Given the description of an element on the screen output the (x, y) to click on. 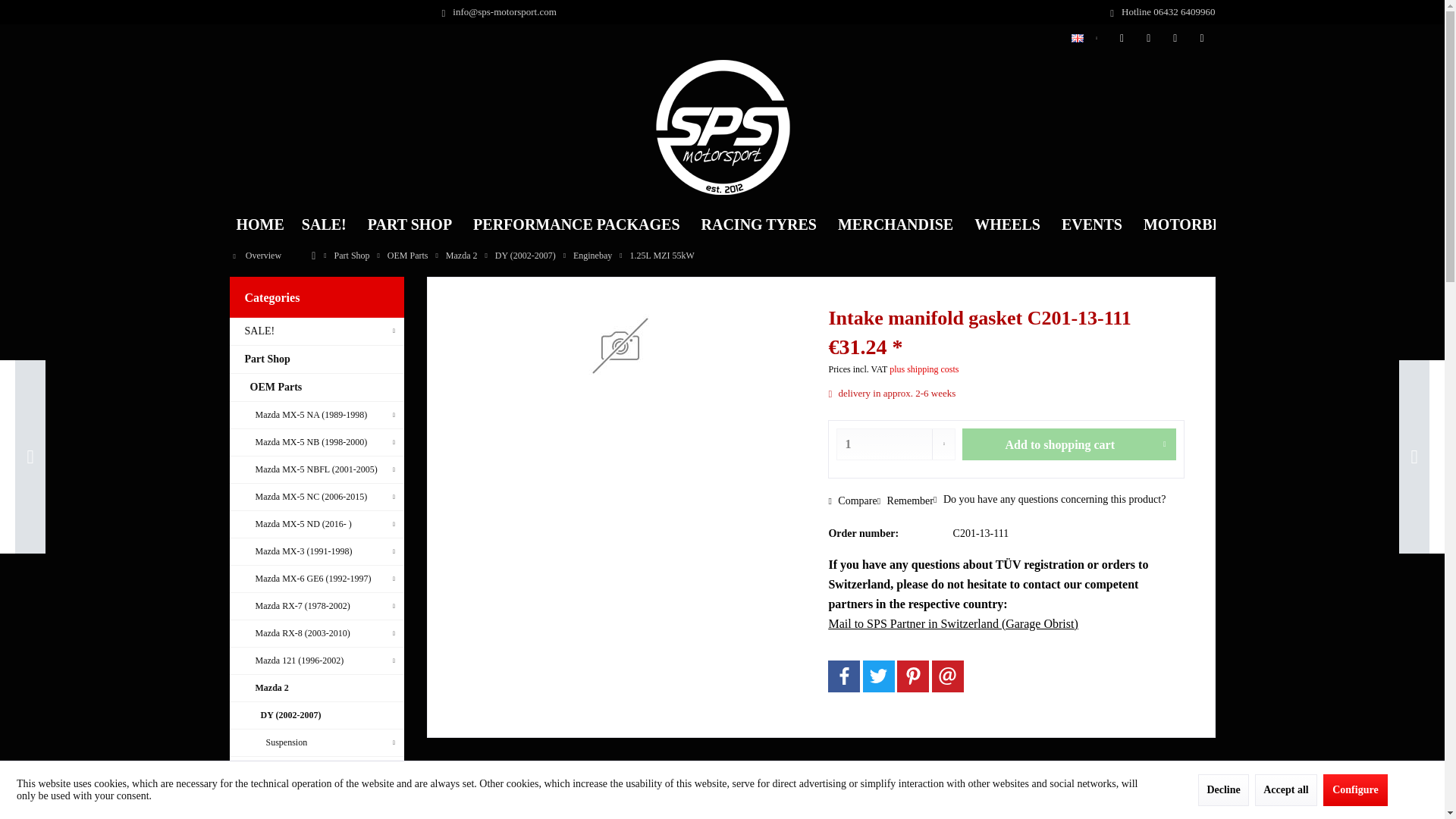
Overview (256, 255)
SALE! (323, 224)
PART SHOP (409, 224)
PART SHOP (409, 224)
PERFORMANCE PACKAGES (576, 224)
GALLERY (1304, 224)
SALE! (323, 224)
MOTORBLOG (1194, 224)
MERCHANDISE (895, 224)
